Given the description of an element on the screen output the (x, y) to click on. 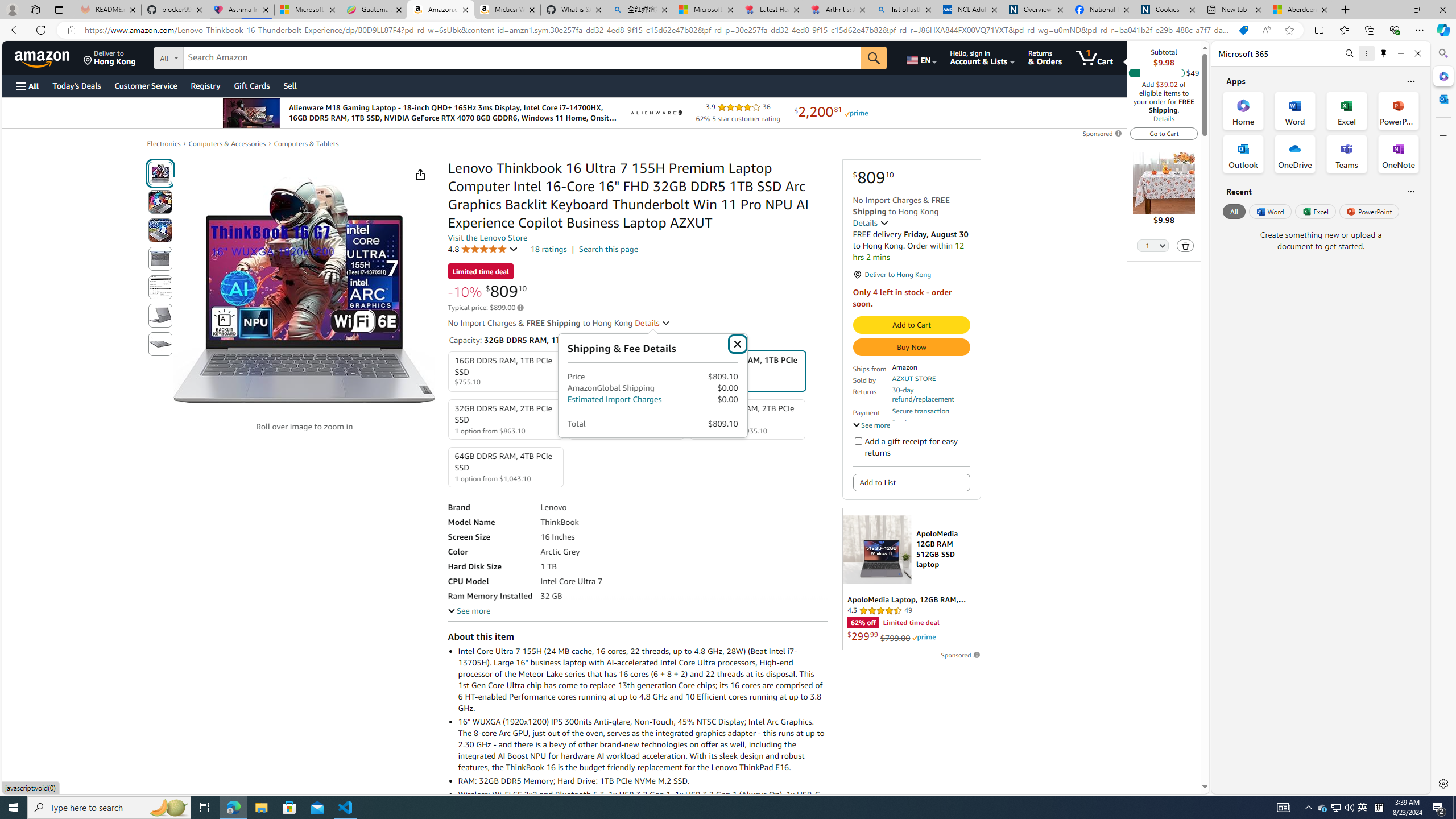
Prime (923, 637)
Search Amazon (522, 57)
Secure transaction (920, 411)
Logo (655, 112)
